Given the description of an element on the screen output the (x, y) to click on. 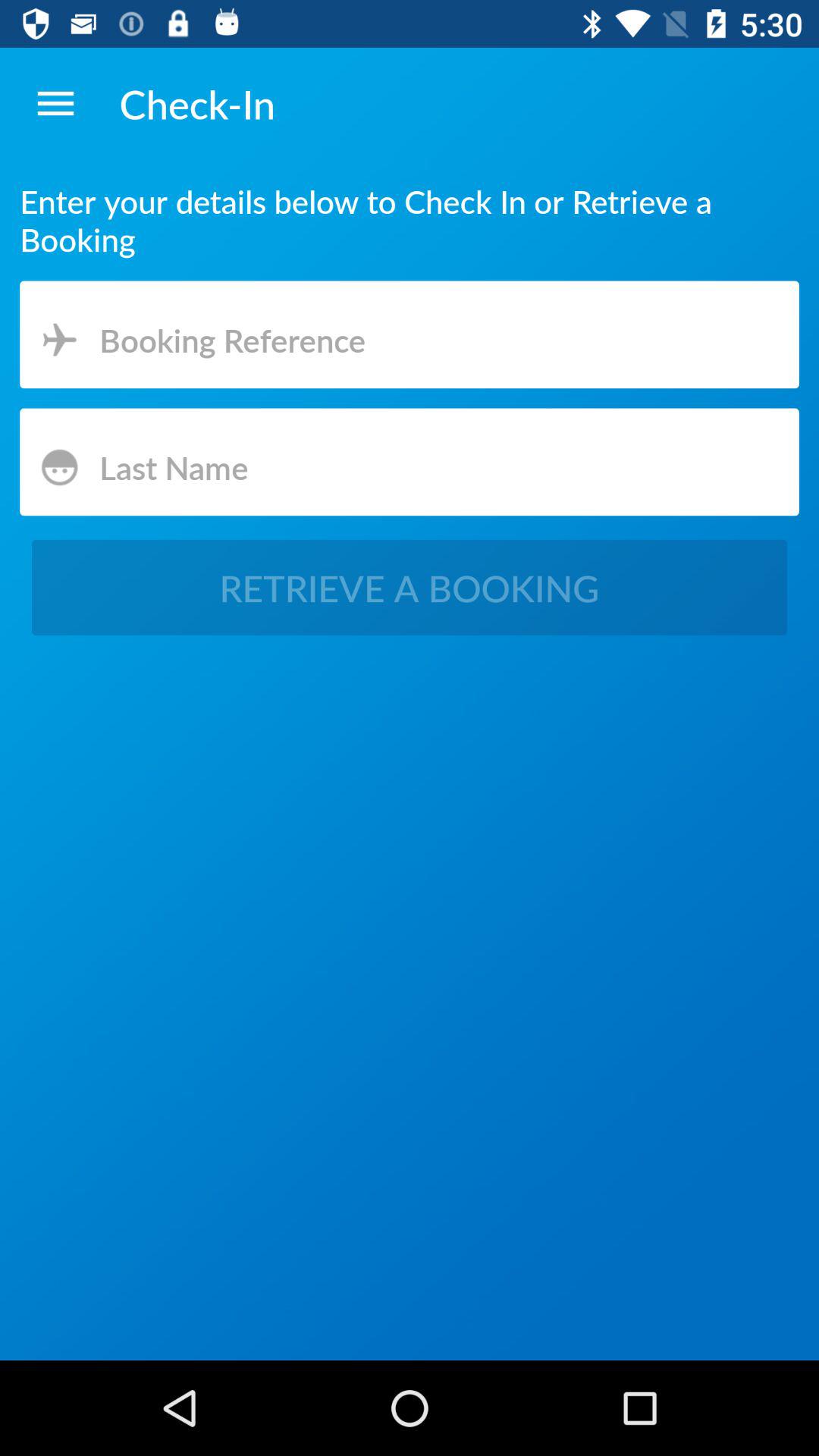
enter booking reference (409, 336)
